Given the description of an element on the screen output the (x, y) to click on. 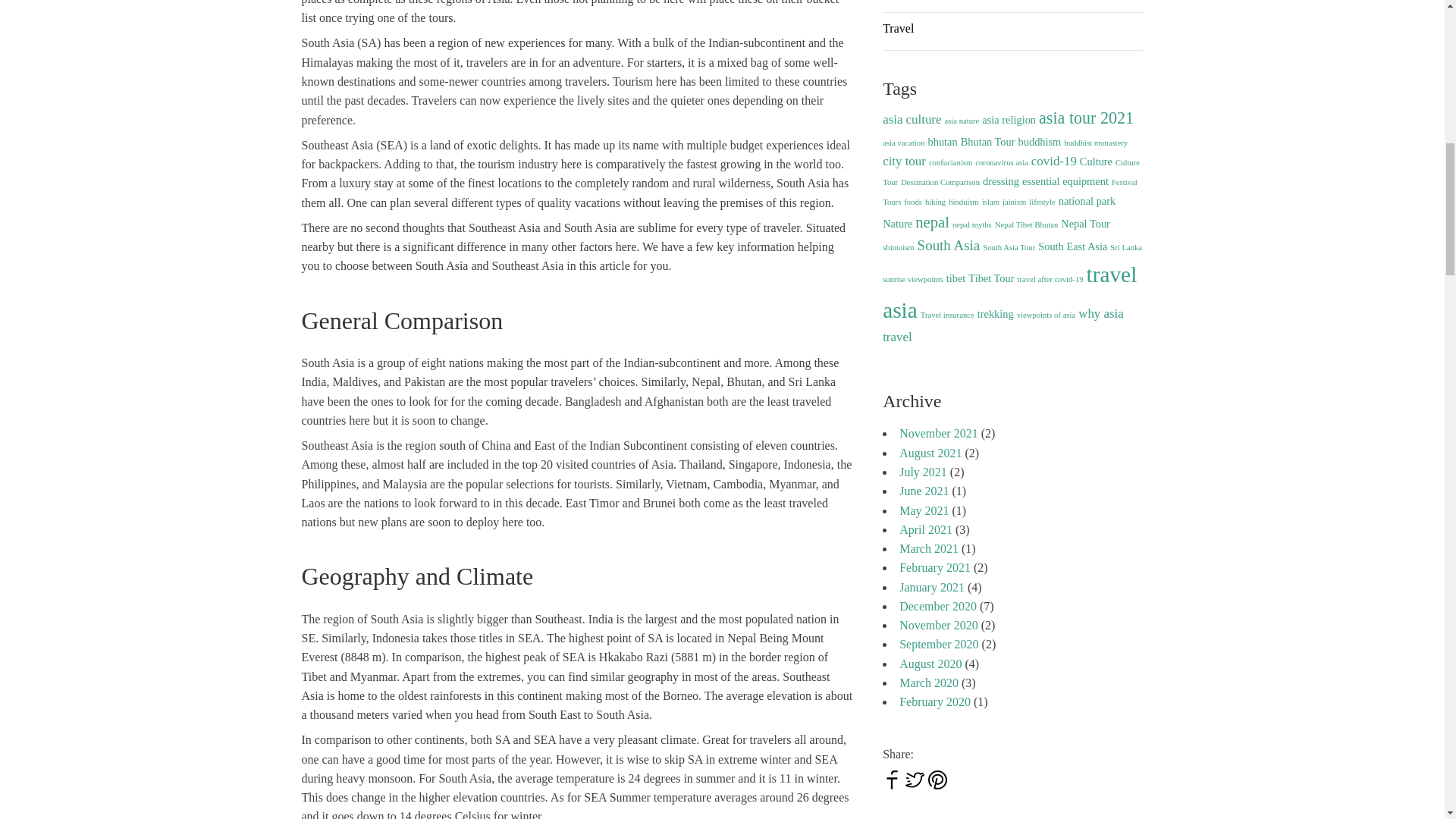
Bhutan Tour (987, 141)
confucianism (950, 162)
Travel (898, 28)
buddhism (1039, 141)
city tour (904, 160)
asia vacation (903, 142)
asia tour 2021 (1086, 117)
buddhist monastery (1095, 142)
asia nature (960, 121)
asia culture (911, 119)
